Given the description of an element on the screen output the (x, y) to click on. 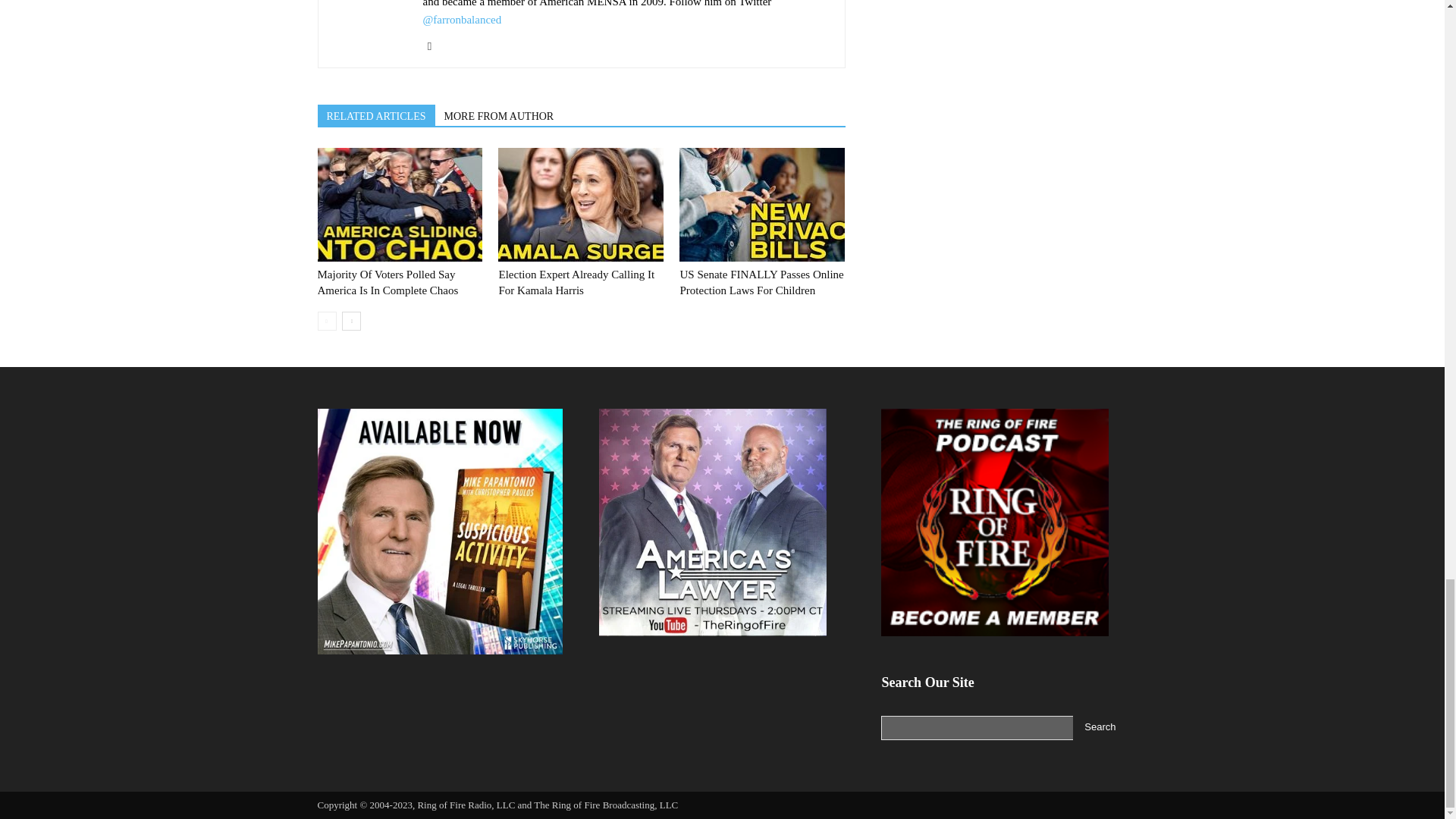
Majority Of Voters Polled Say America Is In Complete Chaos (399, 204)
Search (1099, 727)
Twitter (435, 45)
